Given the description of an element on the screen output the (x, y) to click on. 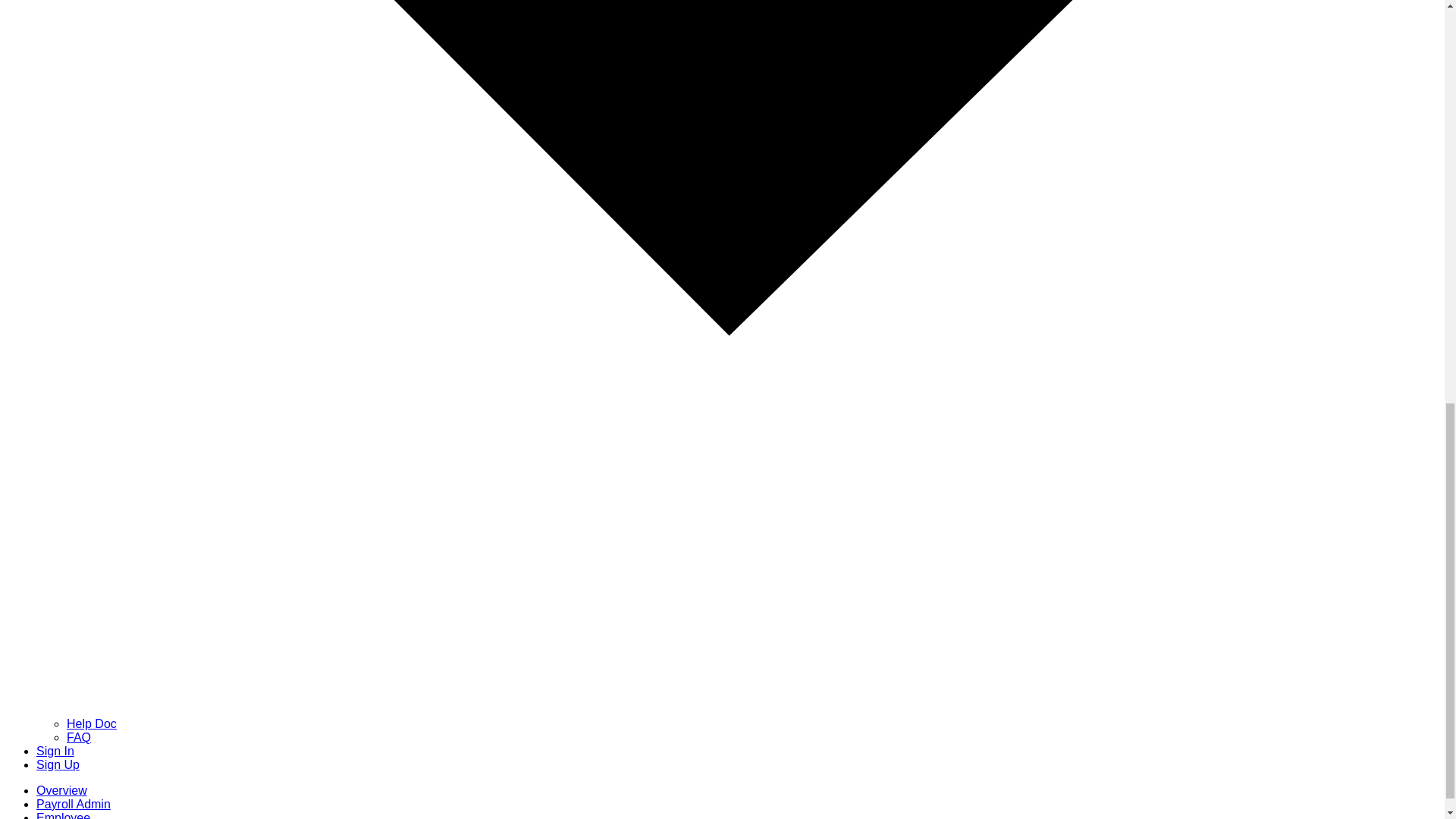
Payroll Admin (73, 803)
Sign Up (58, 764)
Overview (61, 789)
Help Doc (91, 723)
FAQ (78, 737)
Sign In (55, 750)
